Given the description of an element on the screen output the (x, y) to click on. 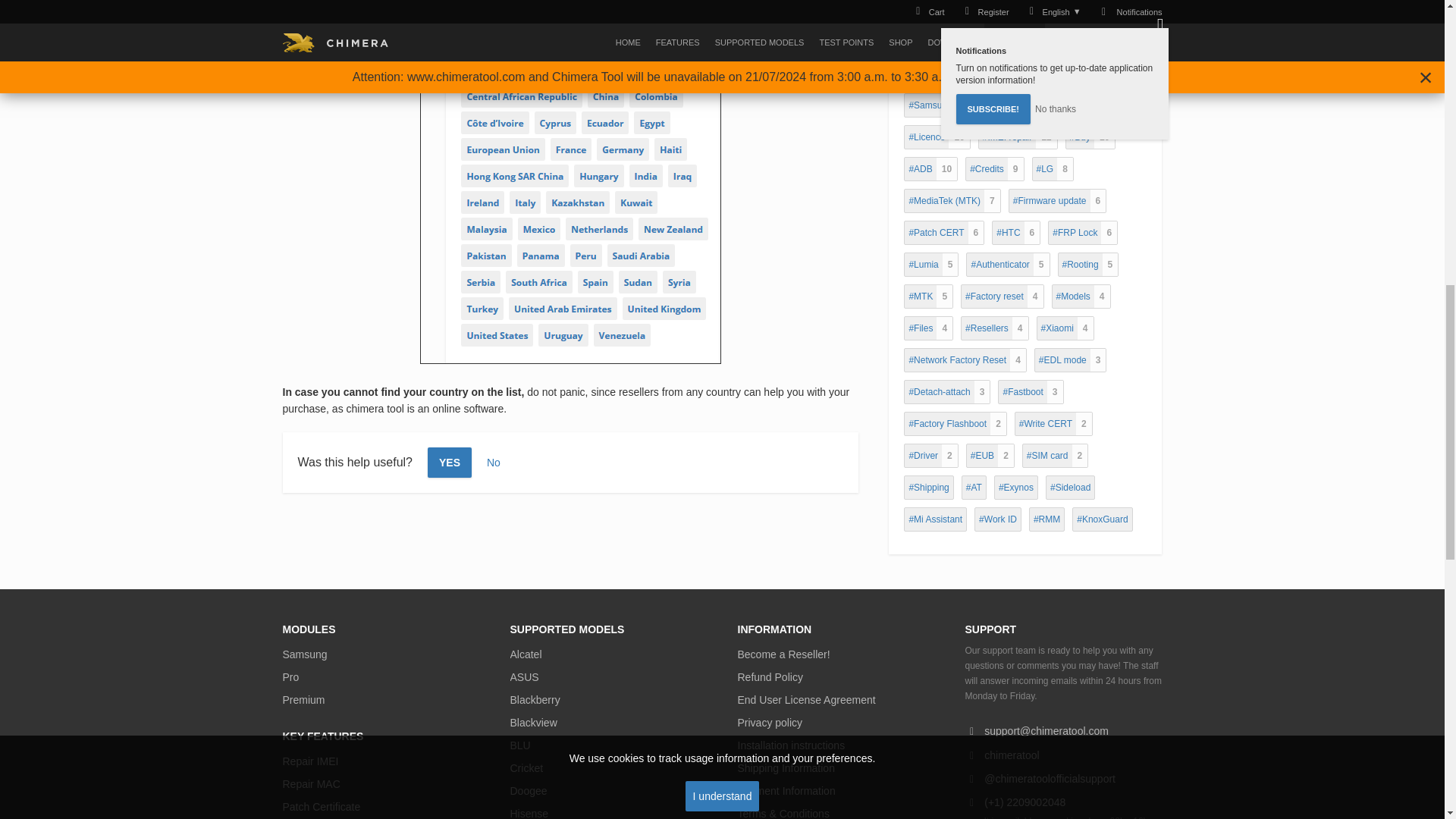
Phone (1062, 802)
Telegram (1062, 778)
Skype (1062, 753)
E-mail (1062, 730)
